Given the description of an element on the screen output the (x, y) to click on. 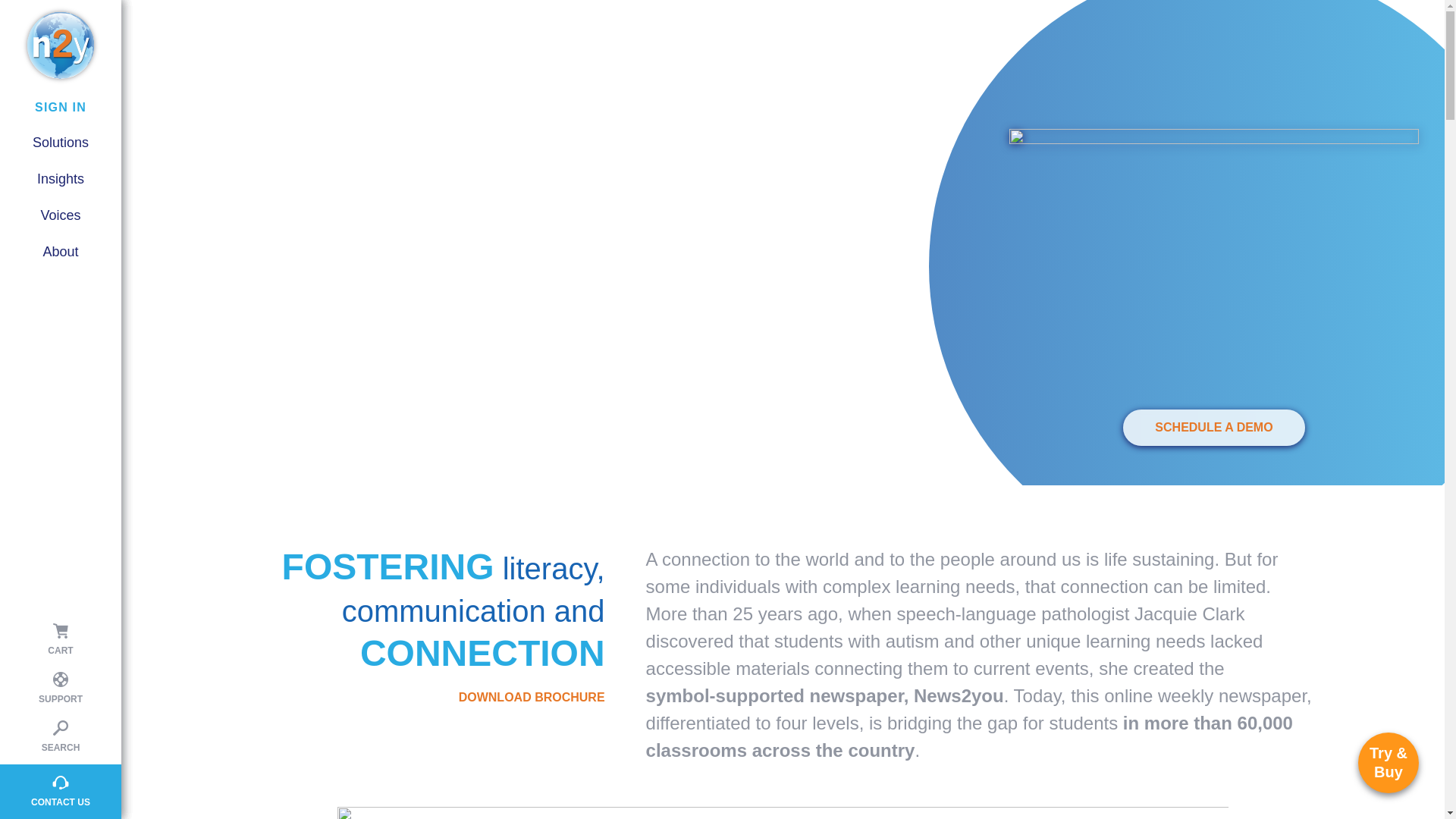
SIGN IN (60, 107)
Insights (45, 224)
About (60, 178)
